Given the description of an element on the screen output the (x, y) to click on. 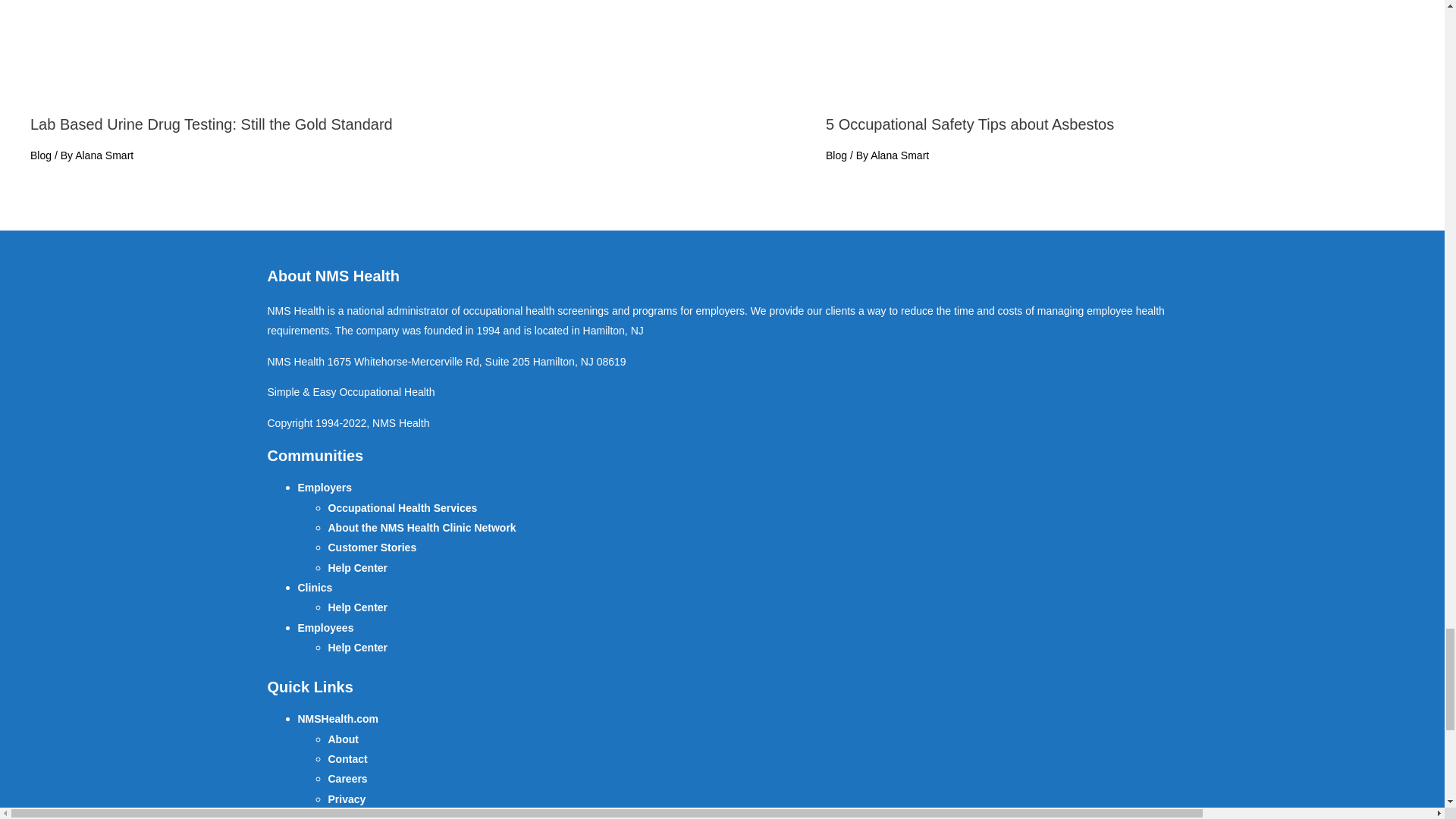
View all posts by Alana Smart (899, 155)
Lab Based Urine Drug Testing: Still the Gold Standard (211, 124)
View all posts by Alana Smart (104, 155)
